Given the description of an element on the screen output the (x, y) to click on. 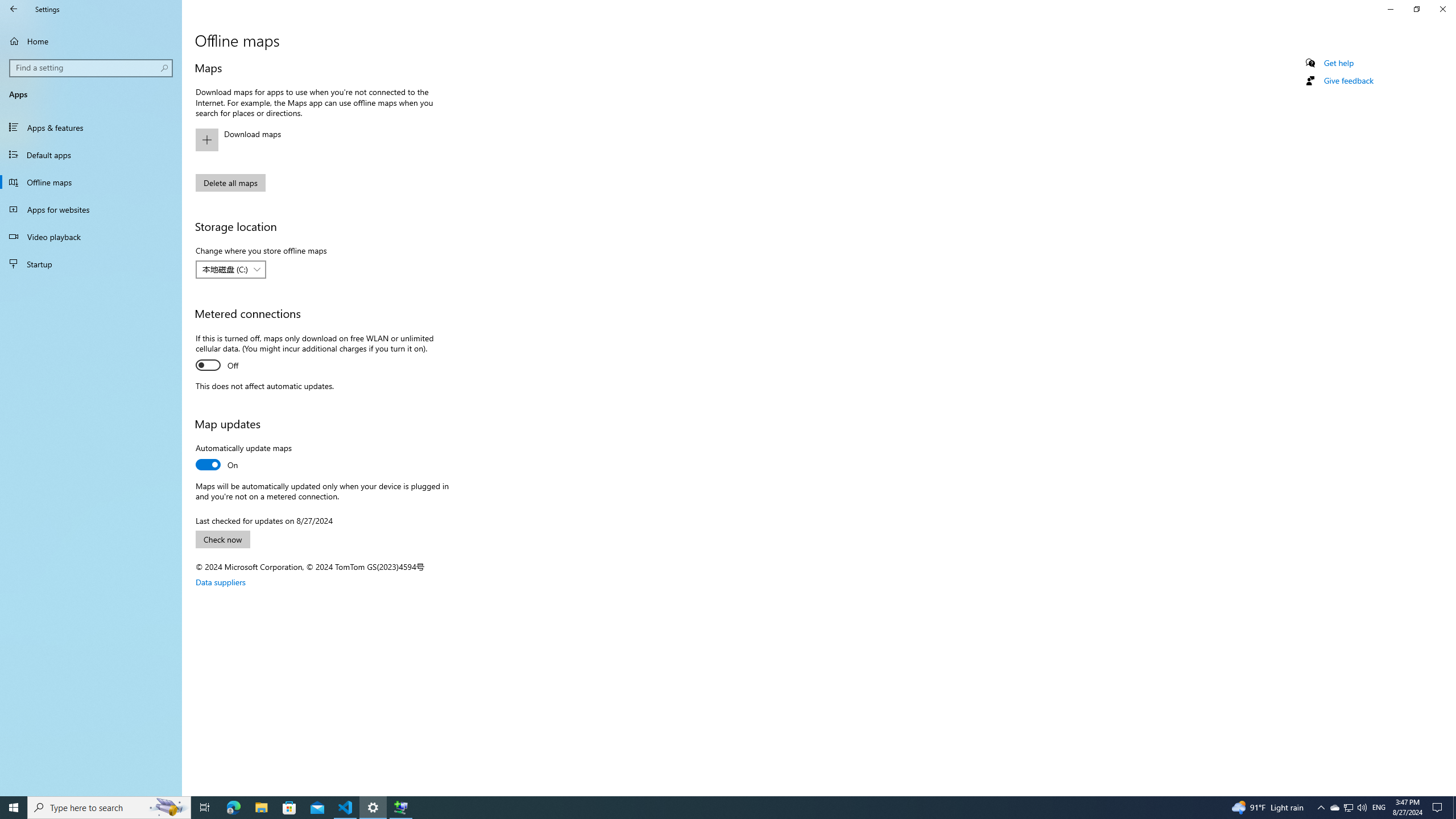
Delete all maps (229, 182)
Extensible Wizards Host Process - 1 running window (400, 807)
Check now (222, 538)
Startup (91, 263)
Data suppliers (220, 581)
Download maps (319, 139)
